Given the description of an element on the screen output the (x, y) to click on. 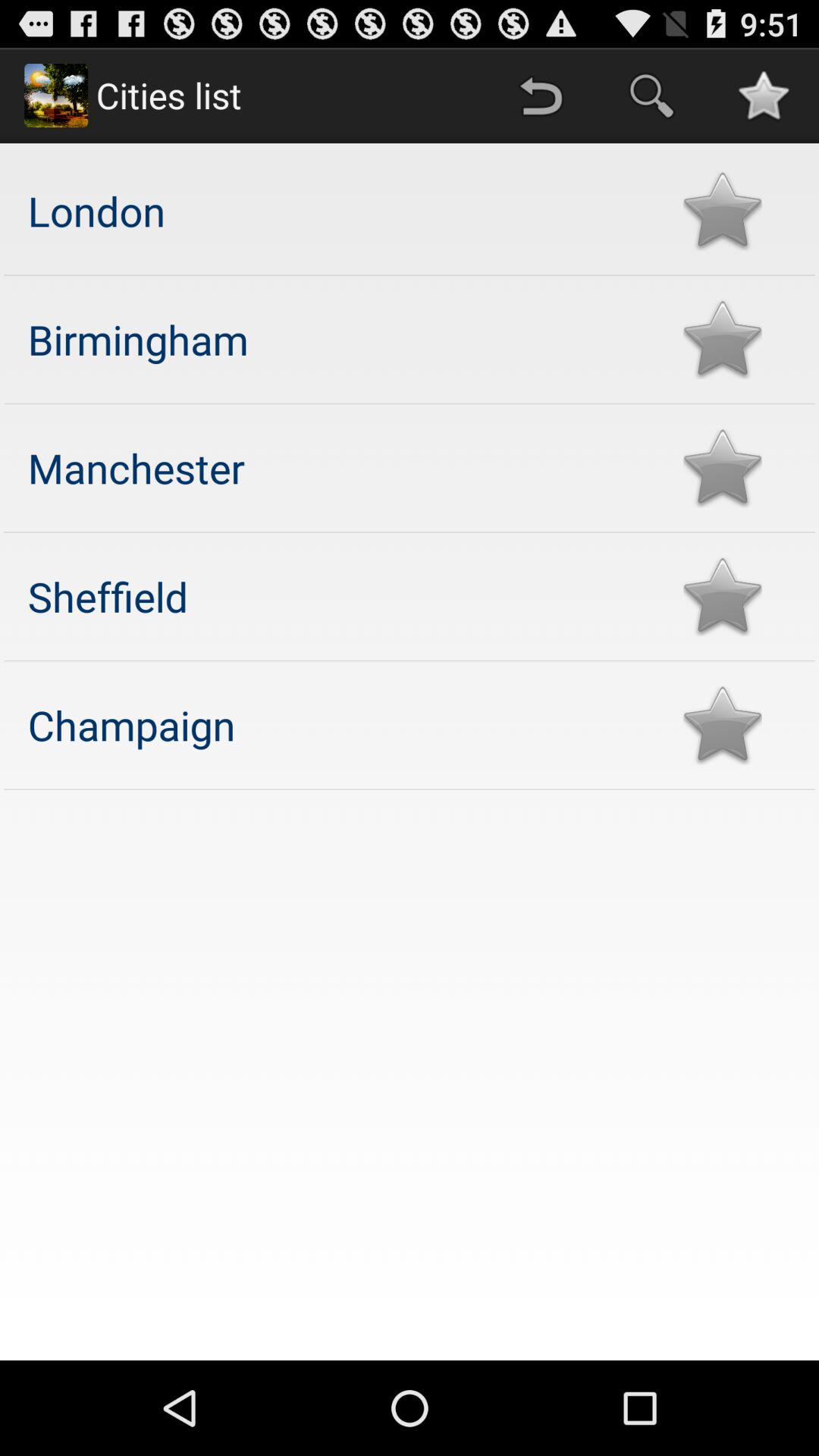
flip to the birmingham icon (340, 338)
